Given the description of an element on the screen output the (x, y) to click on. 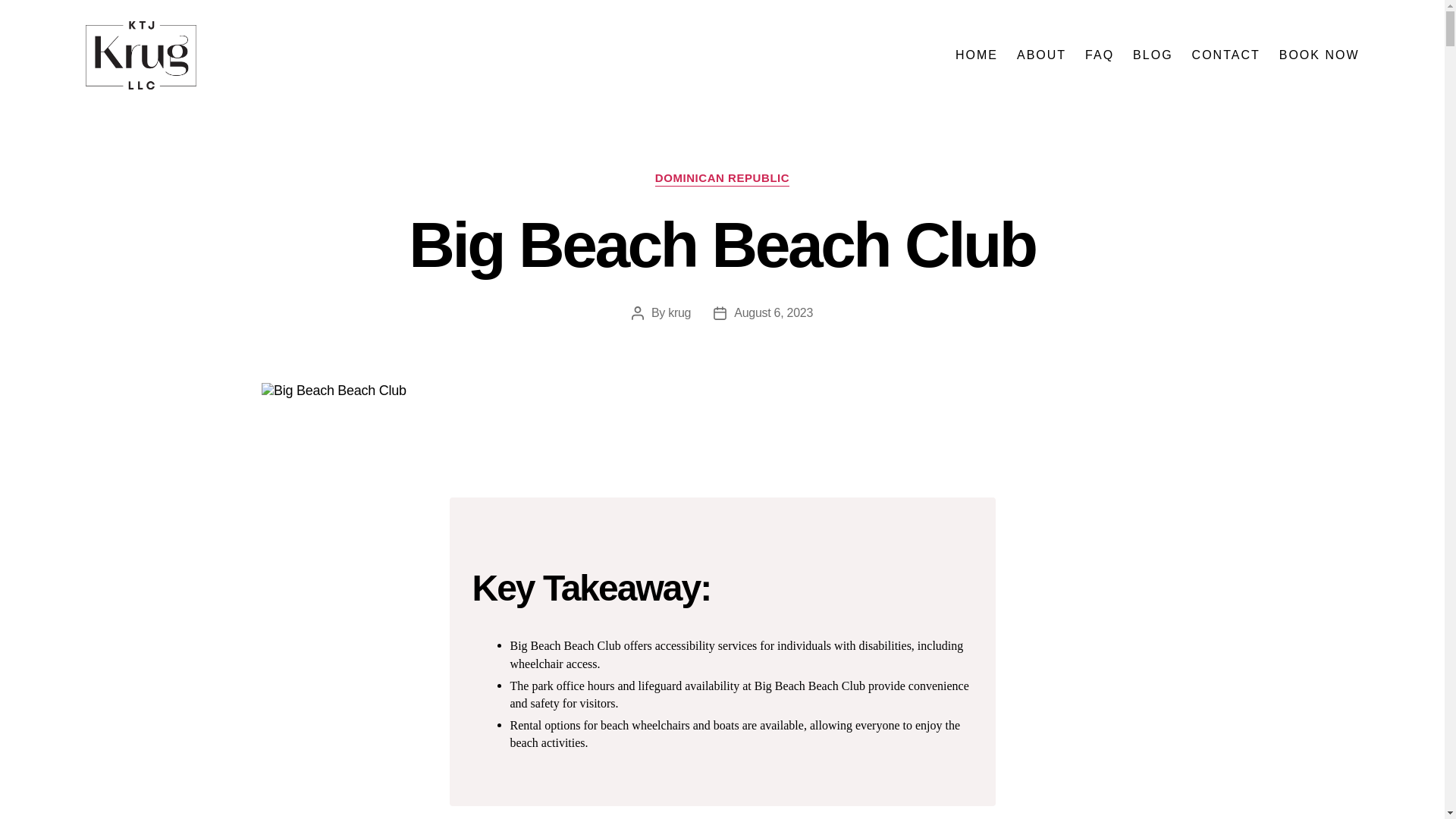
FAQ (1098, 54)
BLOG (1152, 54)
krug (679, 312)
August 6, 2023 (772, 312)
CONTACT (1226, 54)
DOMINICAN REPUBLIC (722, 178)
BOOK NOW (1319, 54)
HOME (976, 54)
Big Beach Beach Club (717, 390)
ABOUT (1040, 54)
